Given the description of an element on the screen output the (x, y) to click on. 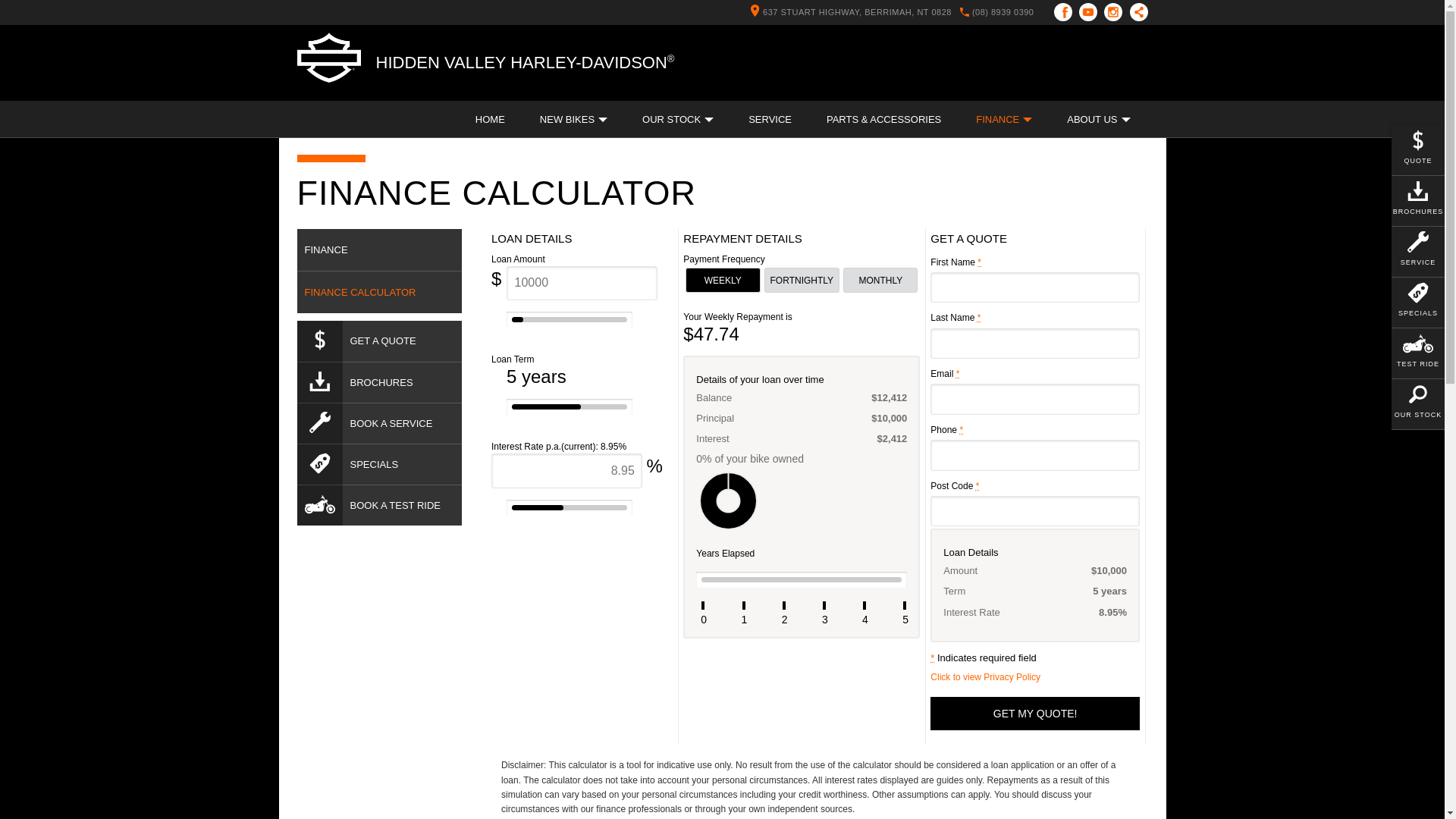
BOOK A TEST RIDE Element type: text (379, 503)
2022 MOTORCYCLES Element type: text (675, 82)
BOOK A SERVICE Element type: text (379, 421)
CONTACT US Element type: text (904, 82)
HOME Element type: text (490, 119)
2024 MOTORCYCLES Element type: text (372, 82)
FINANCE CALCULATOR Element type: text (379, 292)
VIEW BIKE RANGE Element type: text (814, 82)
GET A QUOTE Element type: text (379, 340)
FINANCE CALCULATOR Element type: text (452, 82)
(08) 8939 0390 Element type: text (1003, 11)
NEW BIKES Element type: text (343, 82)
Follow us on Instagram Element type: hover (1116, 12)
ABOUT US Element type: text (999, 82)
637 STUART HIGHWAY, BERRIMAH, NT 0828 Element type: text (846, 11)
NEW BIKES Element type: text (573, 119)
SERVICE Element type: text (770, 119)
FINANCE Element type: text (379, 249)
2023 MOTORCYCLES Element type: text (523, 82)
DEMO BIKES Element type: text (439, 82)
USED BIKES Element type: text (537, 82)
FINANCE Element type: text (1003, 119)
ABOUT US Element type: text (1098, 119)
Share this page Element type: hover (1135, 12)
Follow our channel on YouTube Element type: hover (1090, 12)
FINANCE Element type: text (337, 82)
BROCHURES Element type: text (379, 380)
SPECIALS Element type: text (379, 462)
OUR STOCK Element type: text (677, 119)
Follow us on Facebook Element type: hover (1066, 12)
CAREERS Element type: text (1086, 82)
PARTS & ACCESSORIES Element type: text (883, 119)
